Given the description of an element on the screen output the (x, y) to click on. 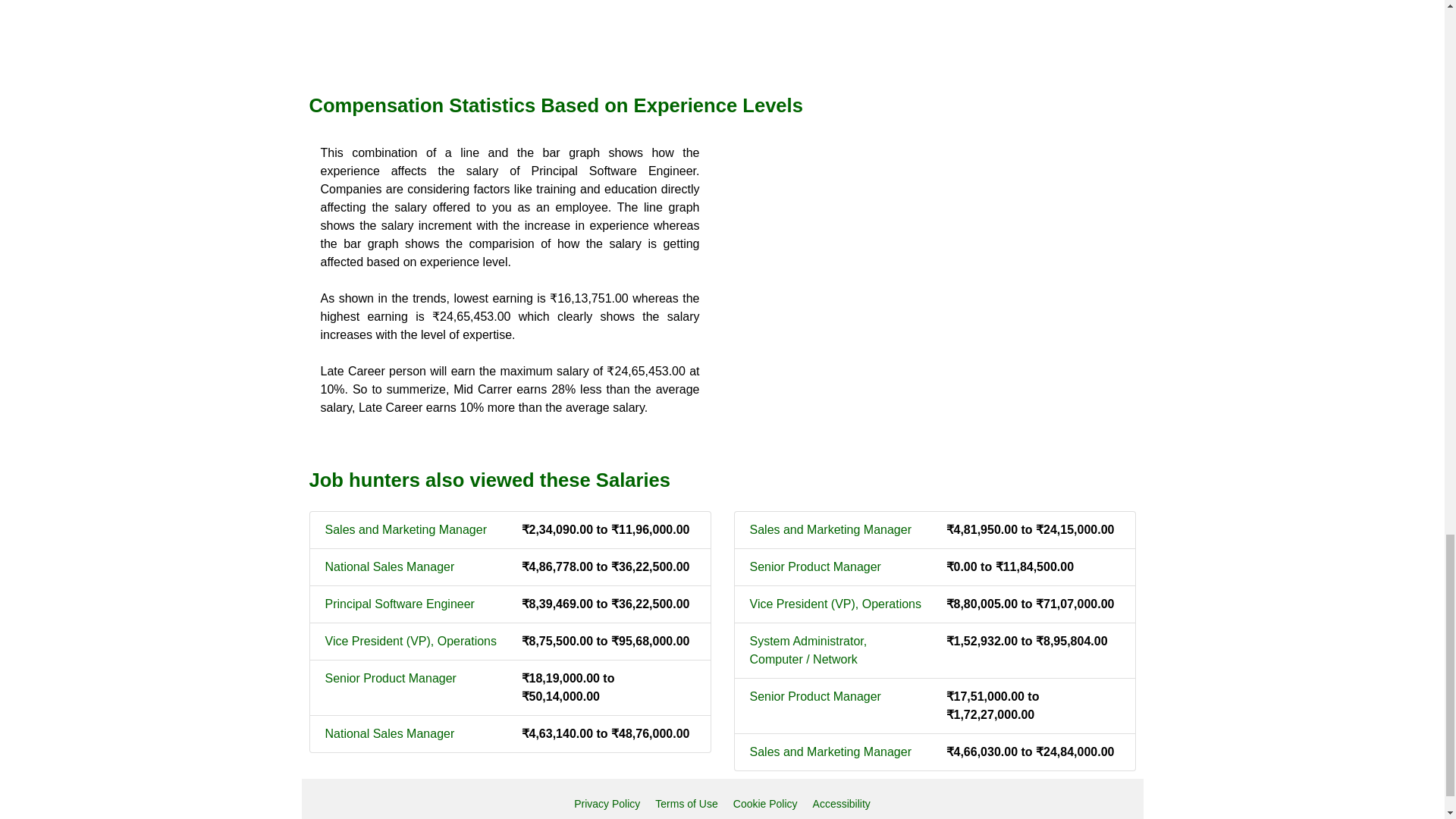
Accessibility (841, 803)
Cookie Policy (765, 803)
Privacy Policy (606, 803)
Terms of Use (686, 803)
